Given the description of an element on the screen output the (x, y) to click on. 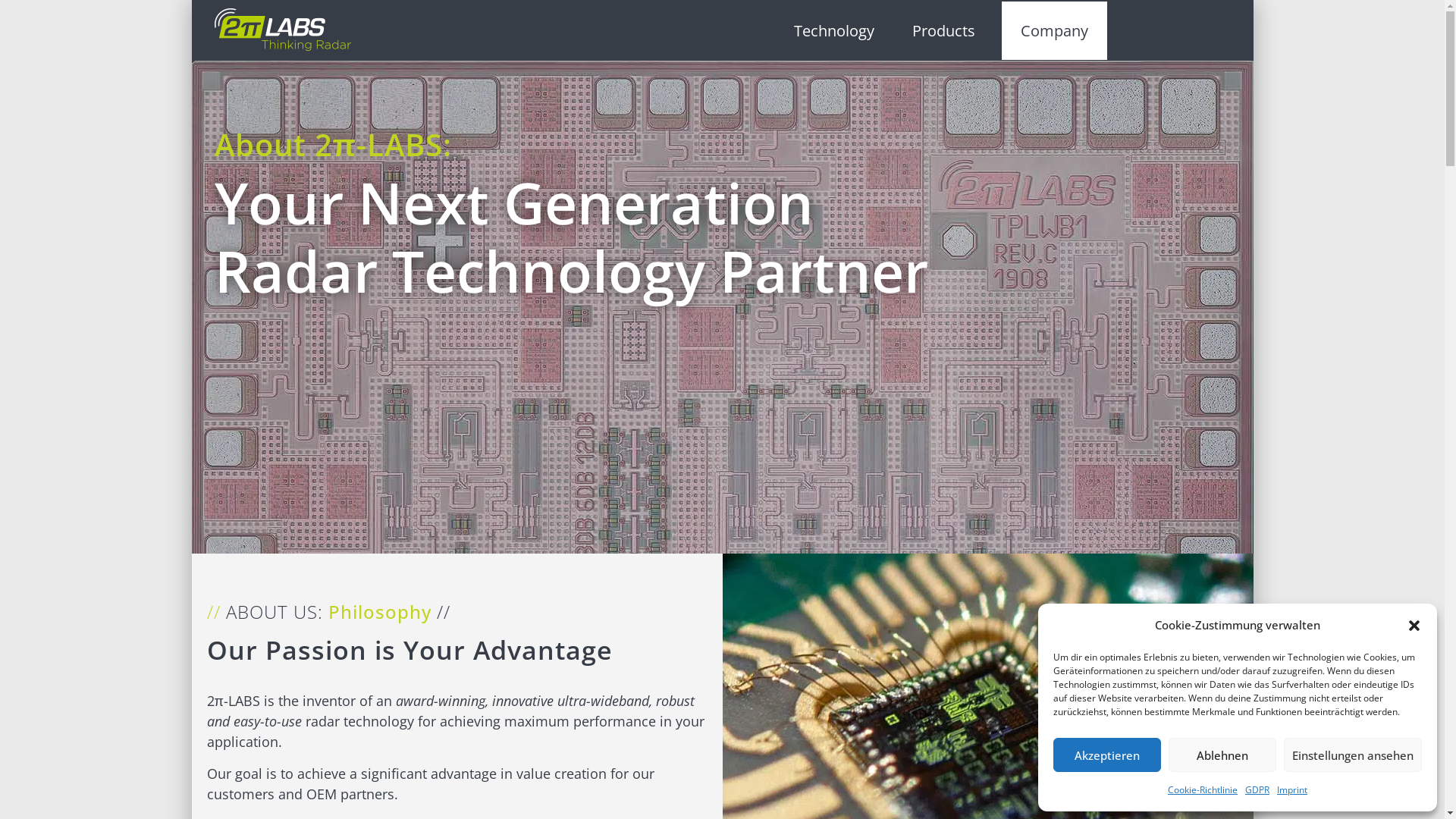
Ablehnen Element type: text (1222, 754)
Einstellungen ansehen Element type: text (1352, 754)
Company Element type: text (1054, 30)
Cookie-Richtlinie Element type: text (1202, 789)
Imprint Element type: text (1292, 789)
Technology Element type: text (834, 30)
GDPR Element type: text (1257, 789)
Products Element type: text (947, 30)
Akzeptieren Element type: text (1107, 754)
